Given the description of an element on the screen output the (x, y) to click on. 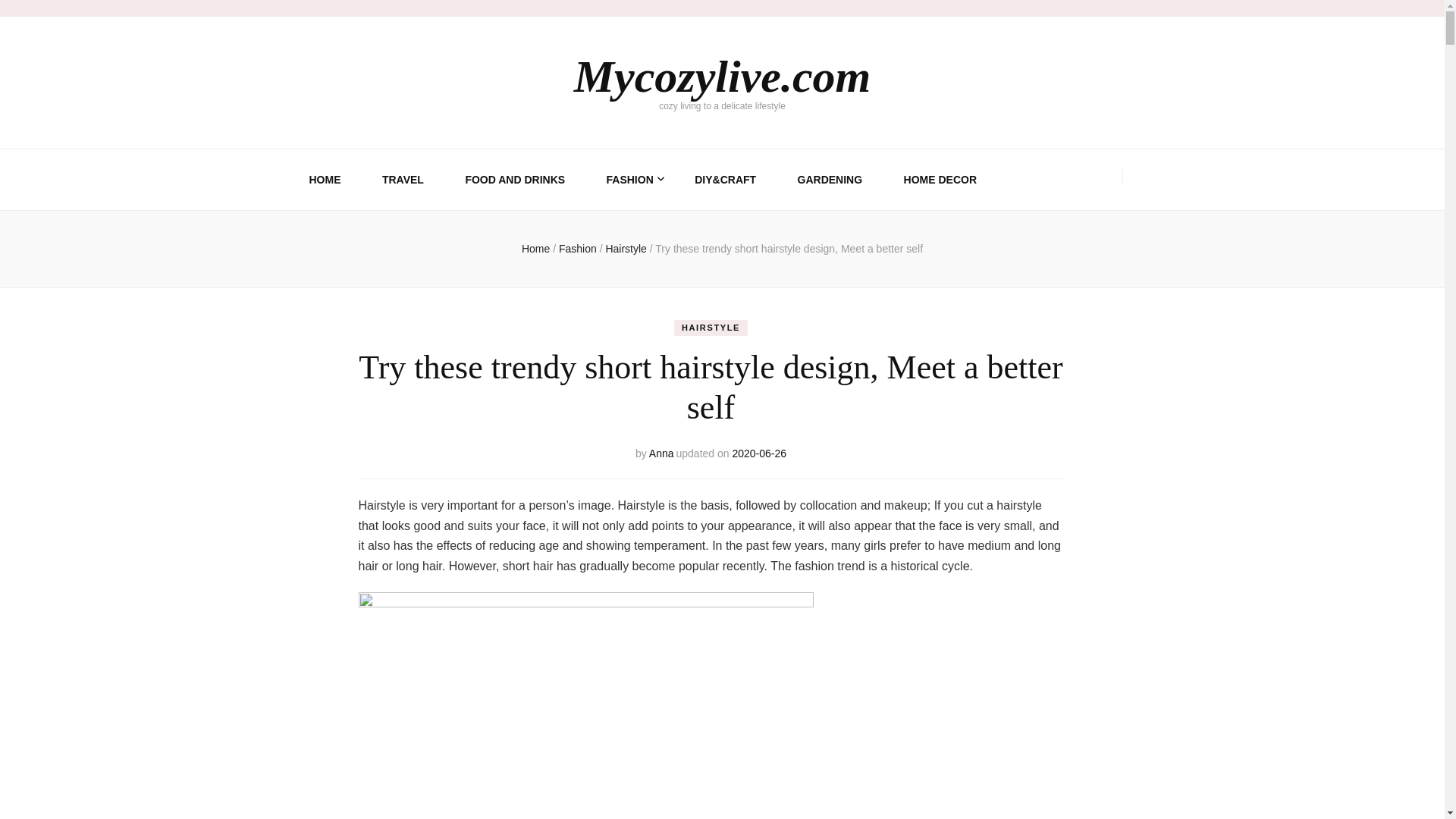
Home (535, 248)
Fashion (579, 248)
TRAVEL (402, 179)
HAIRSTYLE (711, 327)
HOME DECOR (940, 179)
Try these trendy short hairstyle design, Meet a better self (789, 248)
GARDENING (830, 179)
FOOD AND DRINKS (514, 179)
2020-06-26 (759, 453)
Mycozylive.com (721, 76)
HOME (324, 179)
Hairstyle (627, 248)
FASHION (630, 179)
Anna (661, 453)
